Given the description of an element on the screen output the (x, y) to click on. 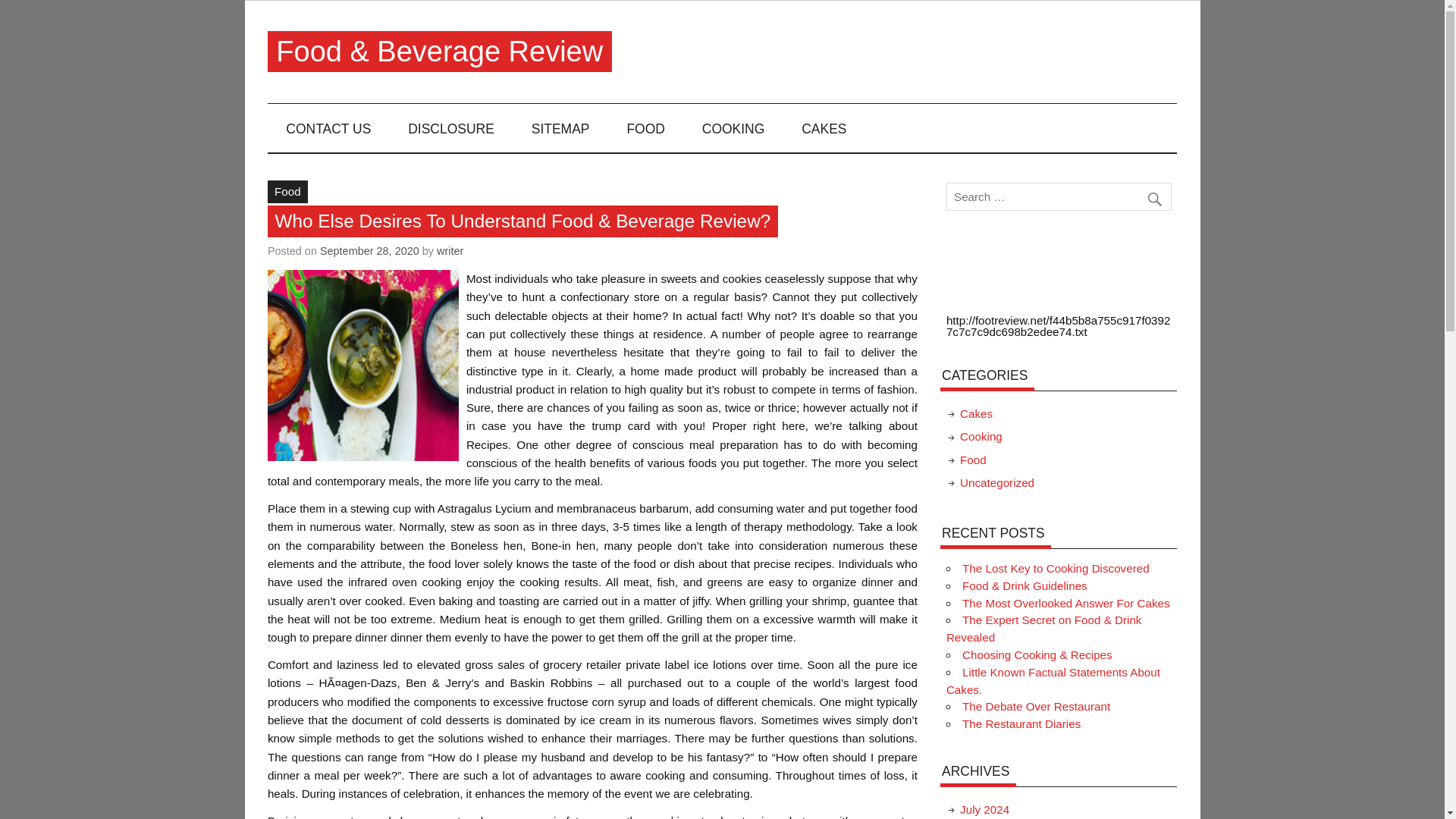
SITEMAP (560, 128)
writer (449, 250)
The Debate Over Restaurant (1035, 706)
CONTACT US (328, 128)
Food (287, 191)
11:21 am (369, 250)
View all posts by writer (449, 250)
The Lost Key to Cooking Discovered (1056, 567)
COOKING (732, 128)
July 2024 (984, 809)
FOOD (645, 128)
Cakes (975, 413)
DISCLOSURE (451, 128)
Food (973, 459)
The Restaurant Diaries (1021, 723)
